Given the description of an element on the screen output the (x, y) to click on. 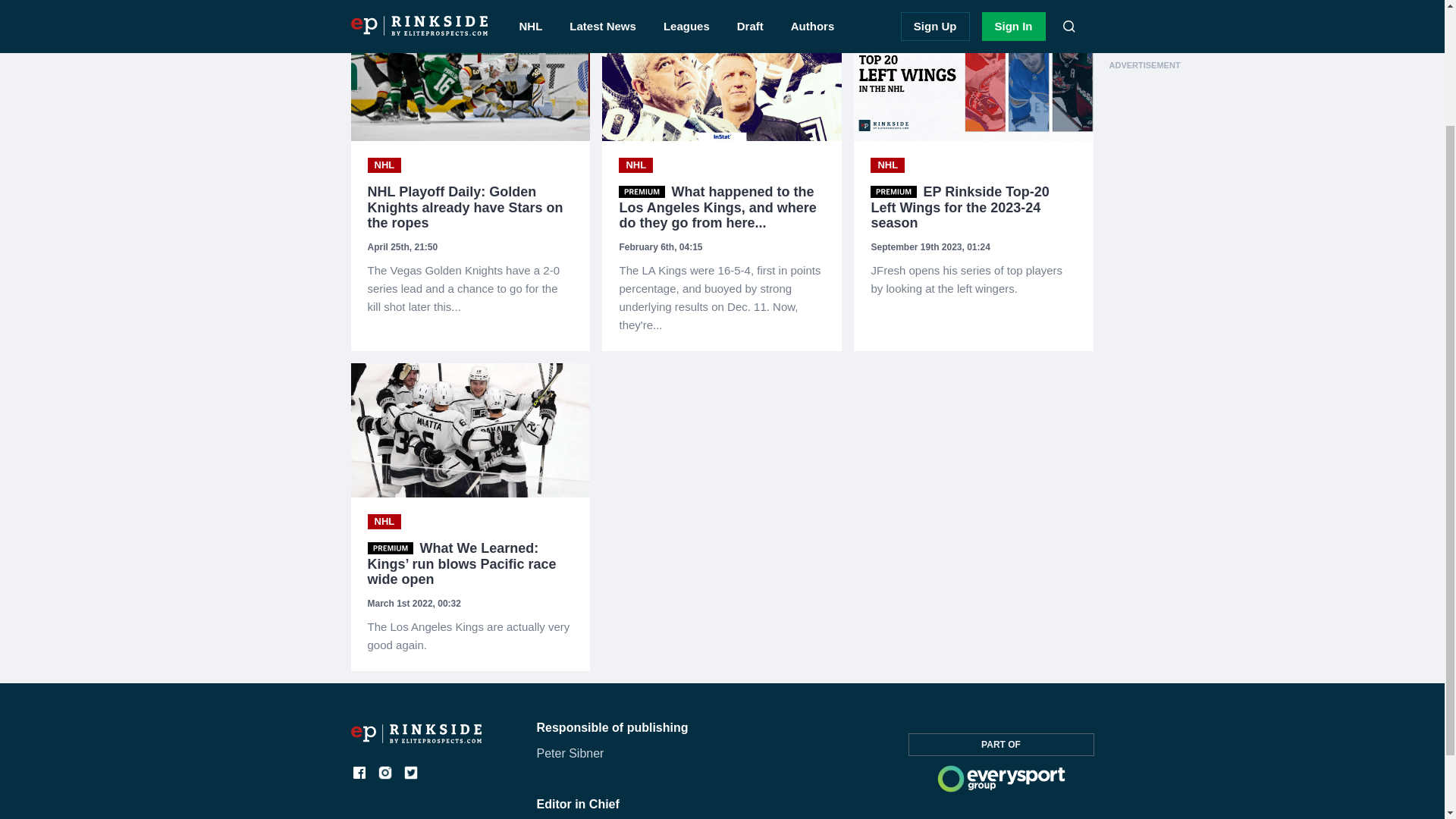
EP Rinkside Top-20 Left Wings for the 2023-24 season (973, 207)
eprinkside.com (415, 738)
NHL (383, 165)
NHL (635, 165)
NHL (383, 165)
NHL (383, 521)
NHL (635, 165)
EP Rinkside Top-20 Left Wings for the 2023-24 season (973, 279)
NHL (887, 165)
